Given the description of an element on the screen output the (x, y) to click on. 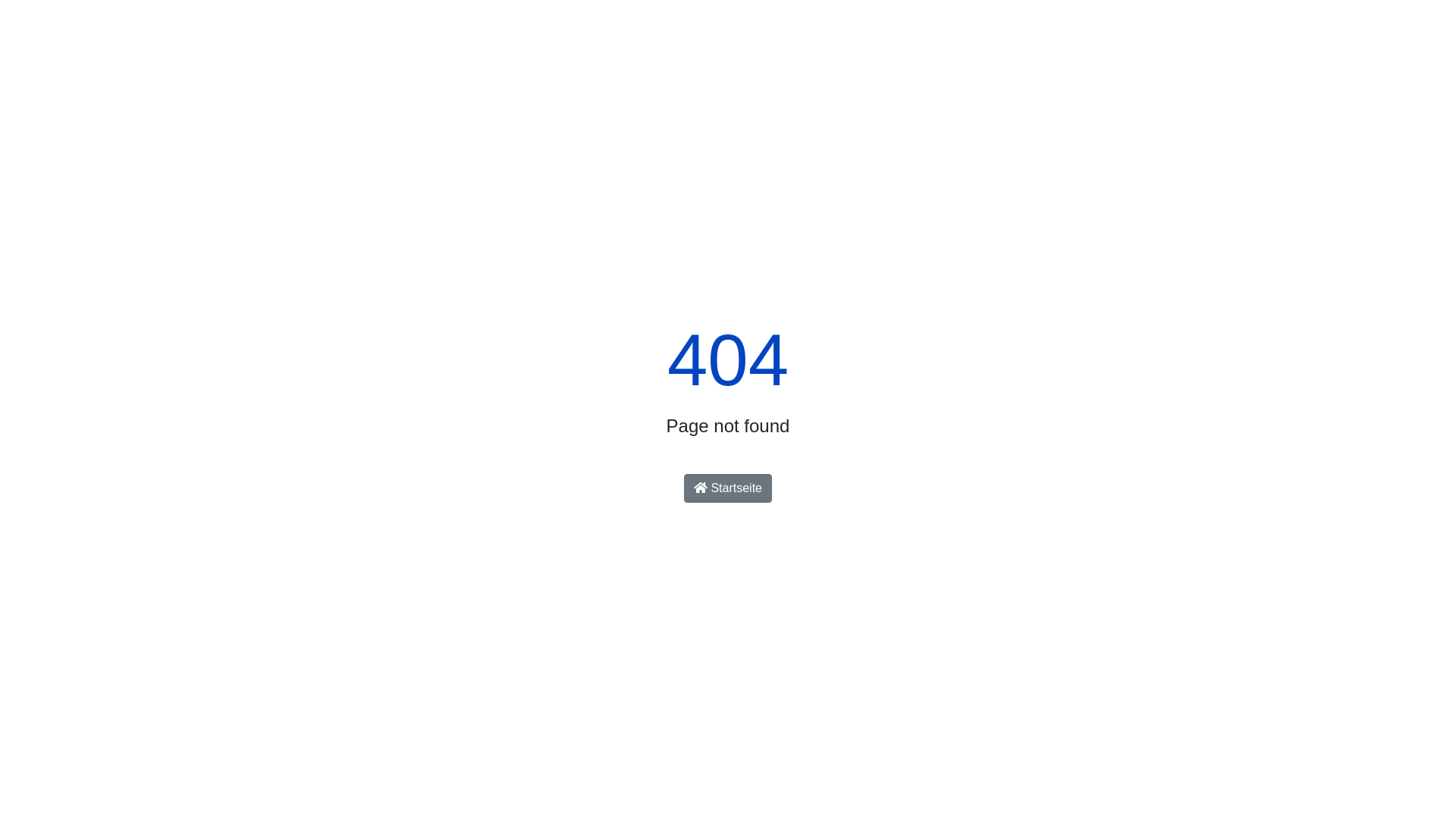
Startseite Element type: text (727, 487)
